Given the description of an element on the screen output the (x, y) to click on. 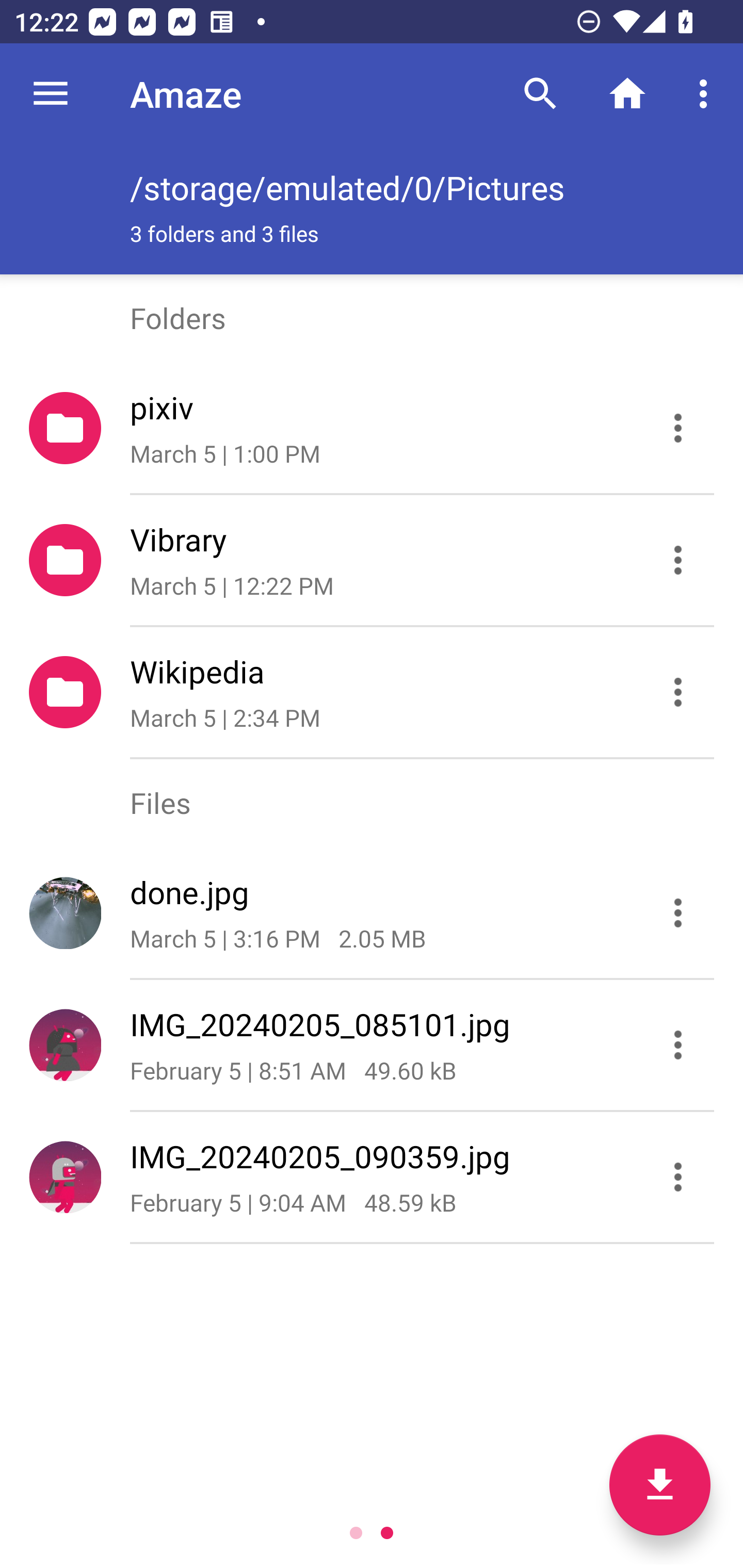
Navigate up (50, 93)
Search (540, 93)
Home (626, 93)
More options (706, 93)
pixiv March 5 | 1:00 PM (371, 427)
Vibrary March 5 | 12:22 PM (371, 560)
Wikipedia March 5 | 2:34 PM (371, 692)
icon done.jpg March 5 | 3:16 PM 2.05 MB (371, 913)
icon (64, 912)
icon (64, 1044)
icon (64, 1177)
